Given the description of an element on the screen output the (x, y) to click on. 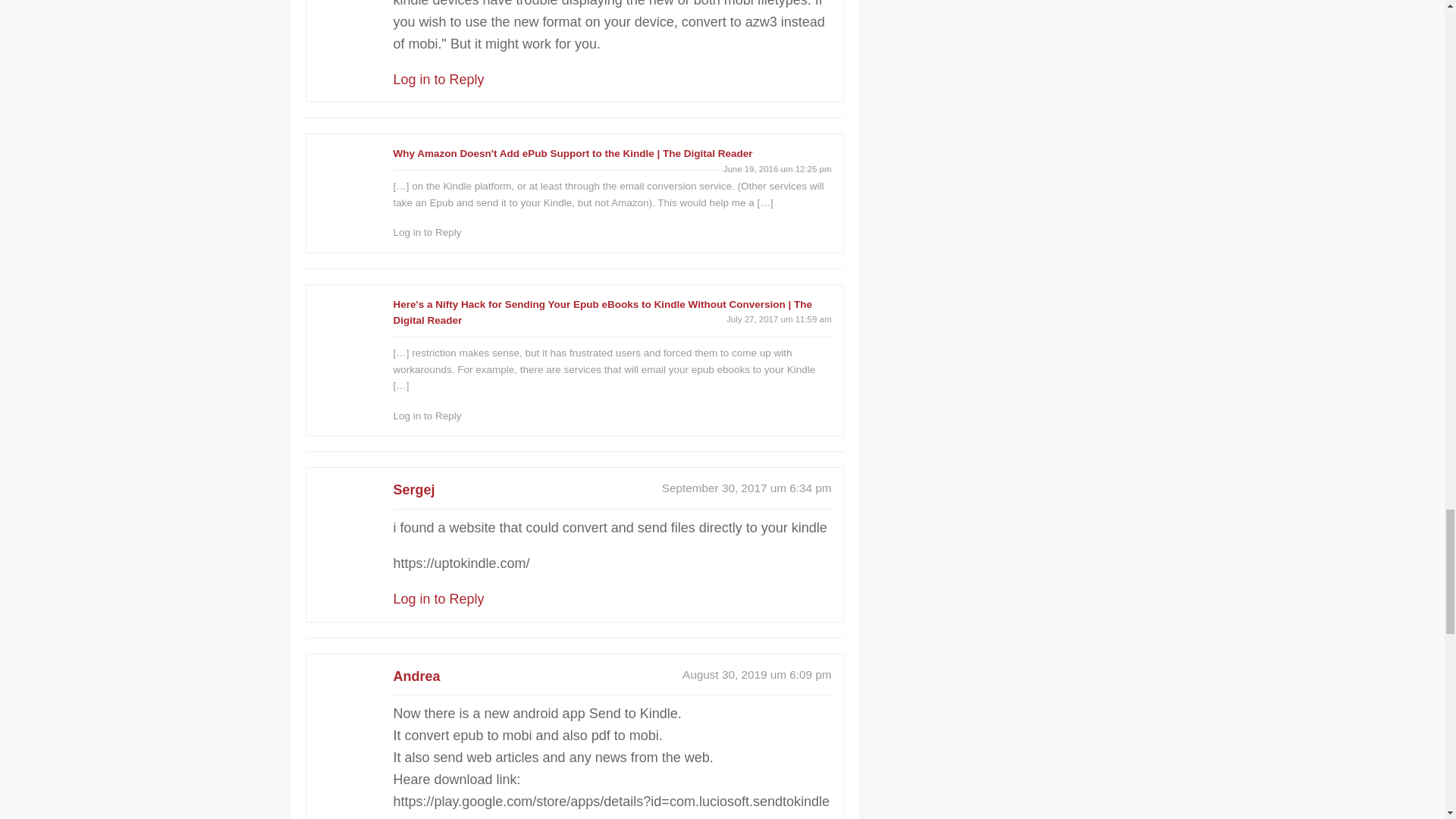
Log in to Reply (427, 415)
Log in to Reply (427, 232)
Log in to Reply (438, 79)
